Given the description of an element on the screen output the (x, y) to click on. 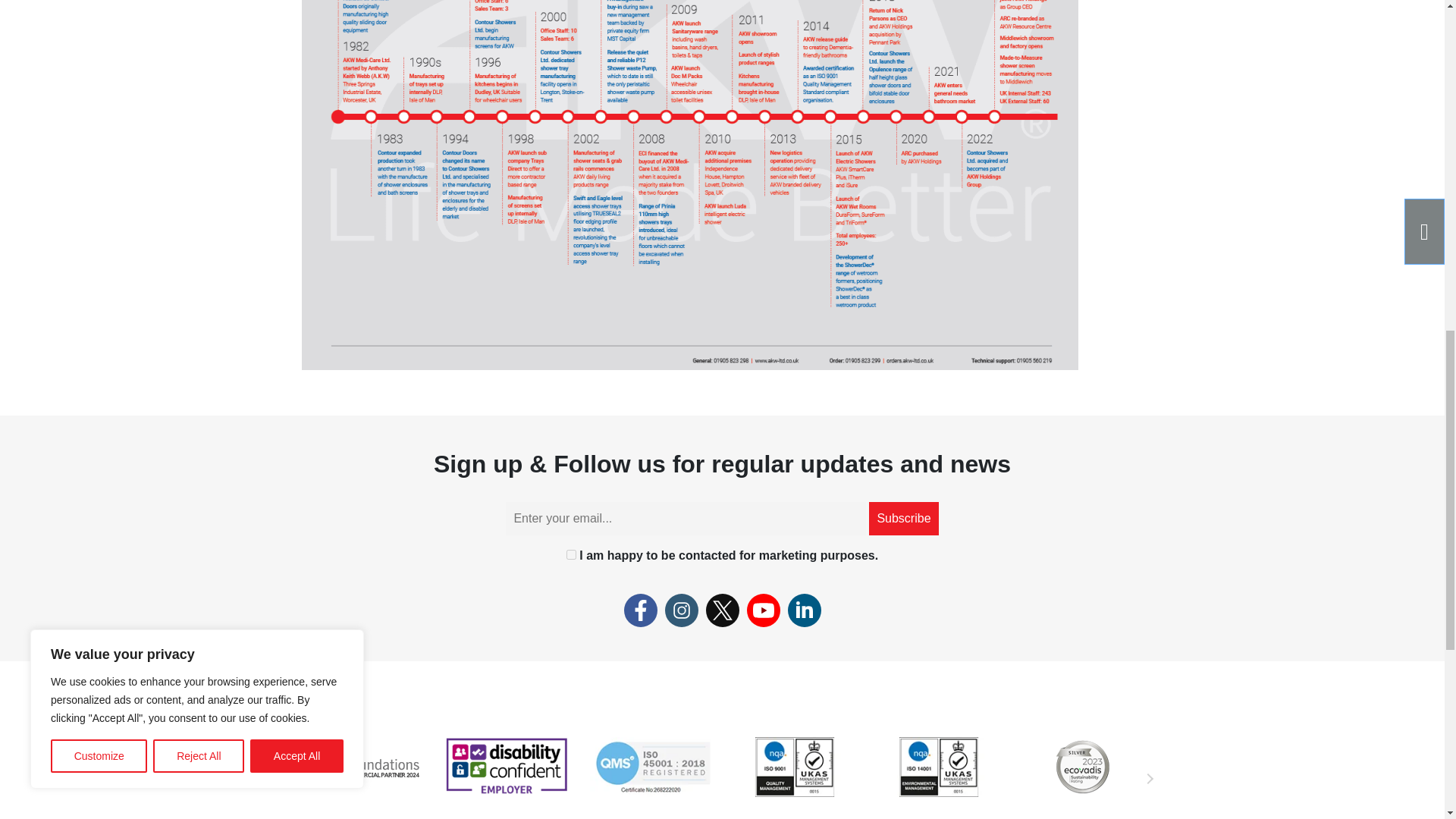
on (571, 554)
Subscribe (903, 518)
